Given the description of an element on the screen output the (x, y) to click on. 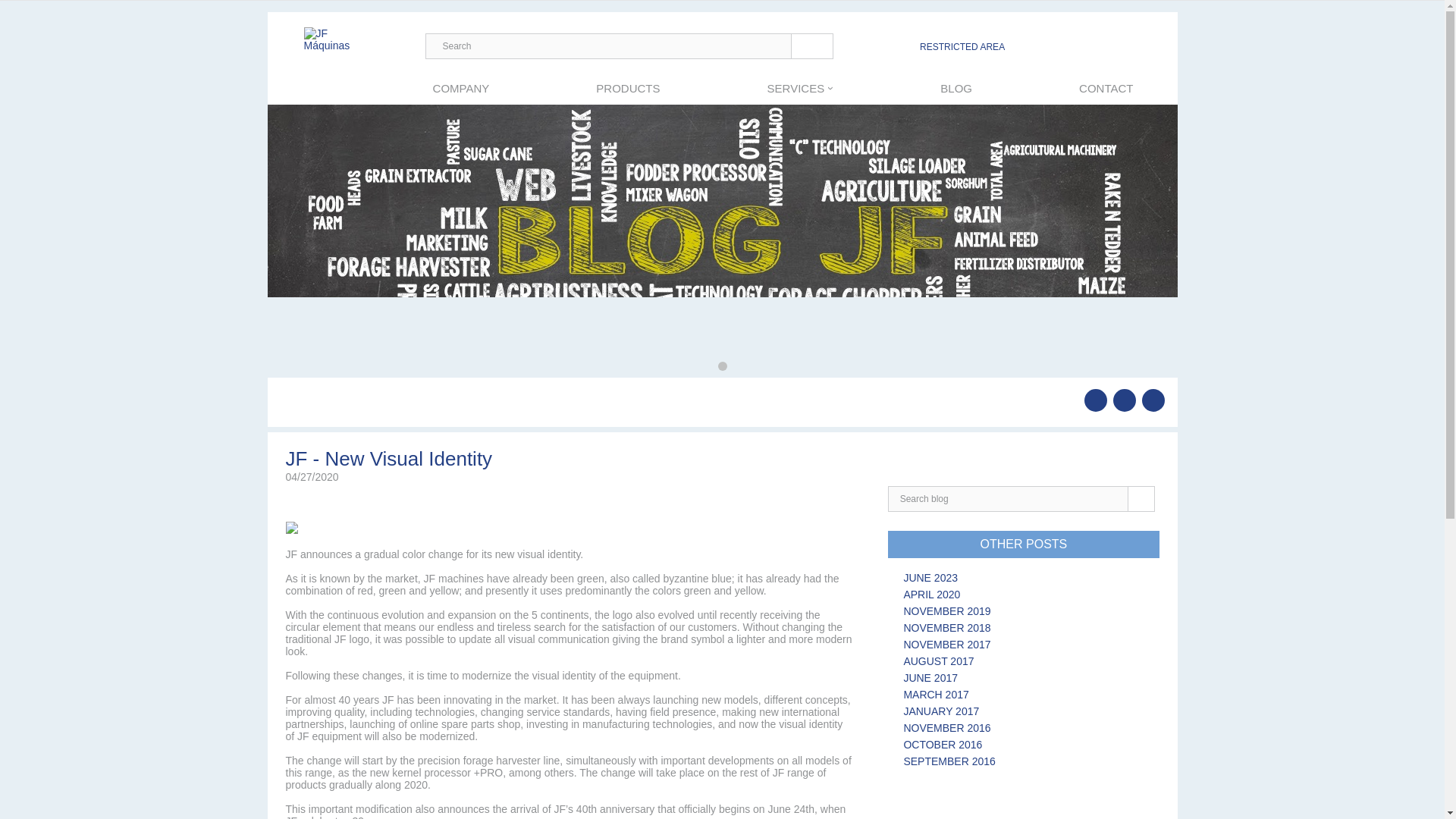
RESTRICTED AREA (962, 46)
PRODUCTS (627, 88)
COMPANY (460, 88)
